Given the description of an element on the screen output the (x, y) to click on. 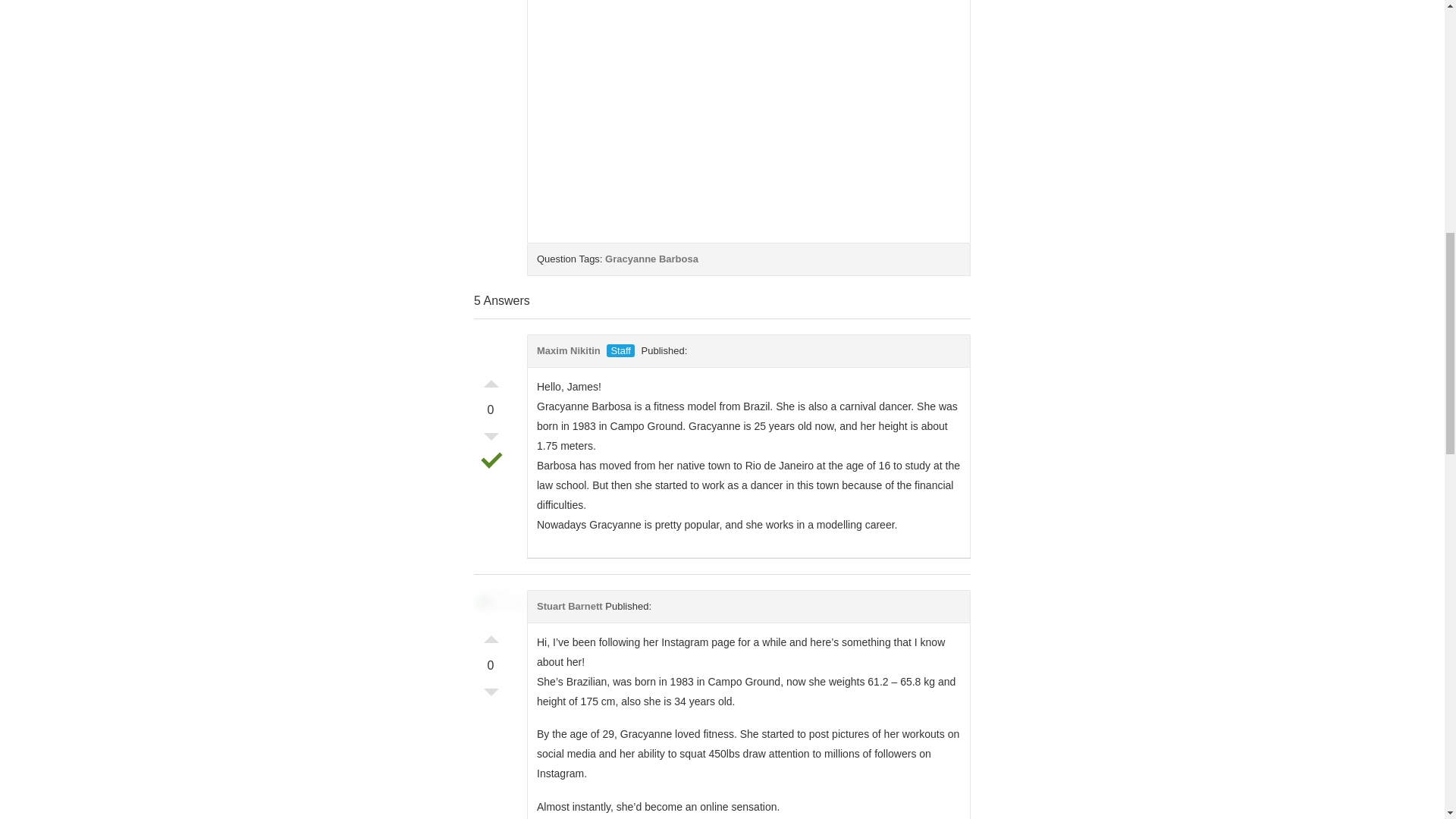
Vote Down (491, 440)
Gracyanne Barbosa (651, 258)
Vote Up (491, 635)
Vote Up (491, 379)
Maxim Nikitin (568, 350)
Stuart Barnett (569, 605)
Vote Down (491, 695)
